Given the description of an element on the screen output the (x, y) to click on. 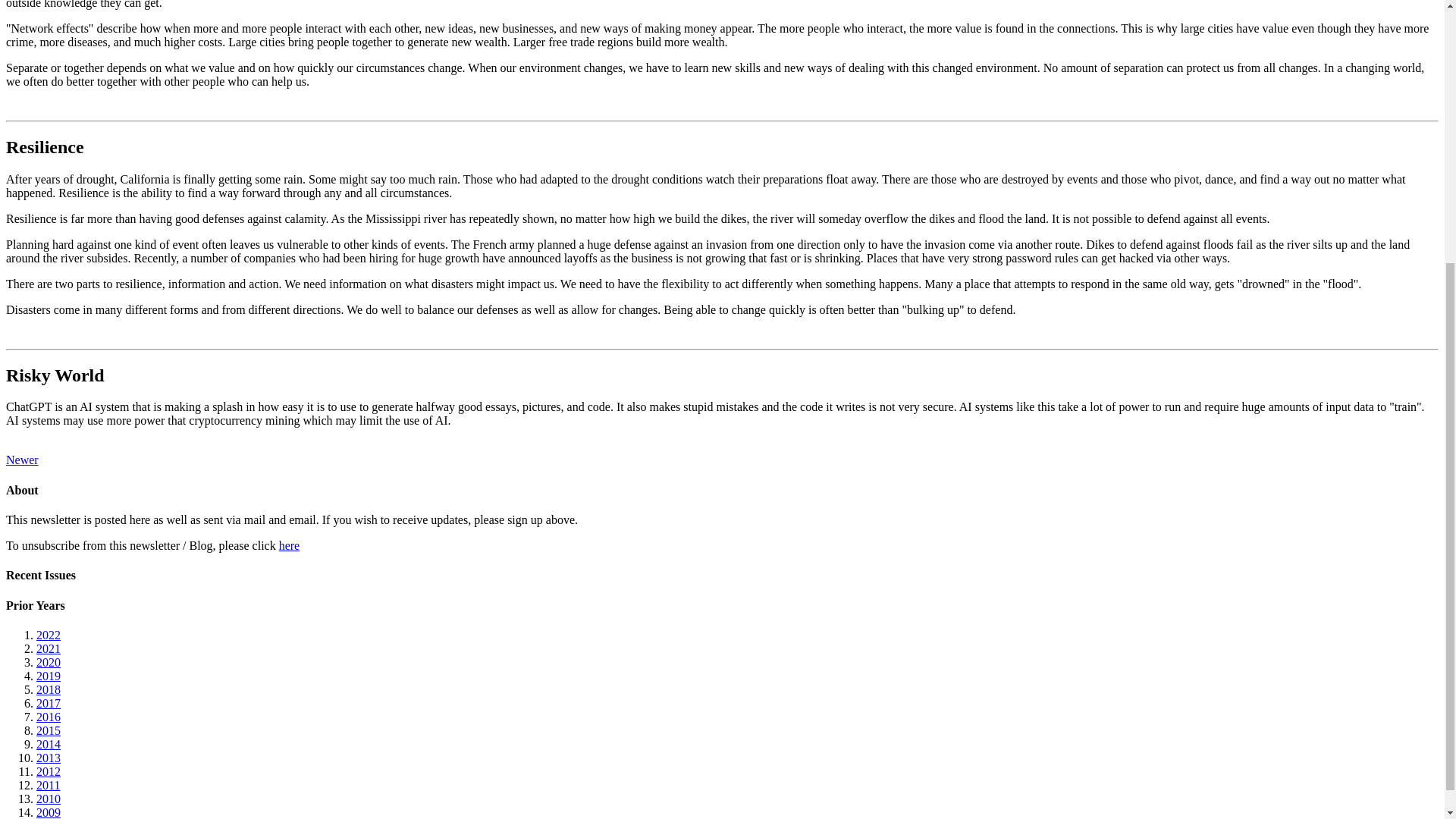
2011 (47, 784)
2021 (48, 648)
2018 (48, 689)
2015 (48, 730)
2022 (48, 634)
2010 (48, 798)
2019 (48, 675)
2012 (48, 771)
Newer (22, 459)
2017 (48, 703)
